Given the description of an element on the screen output the (x, y) to click on. 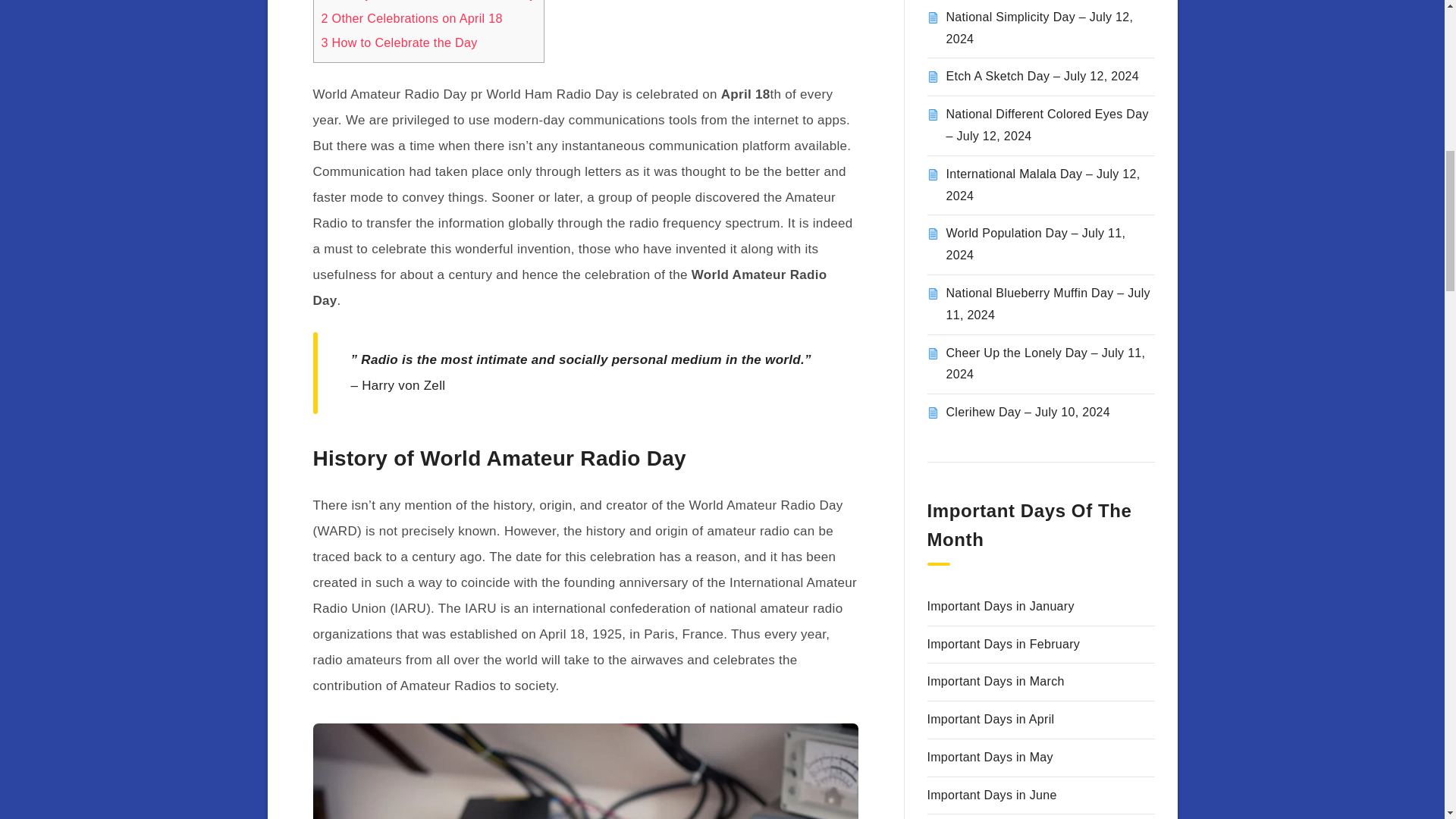
2 Other Celebrations on April 18 (411, 18)
3 How to Celebrate the Day (399, 42)
